Given the description of an element on the screen output the (x, y) to click on. 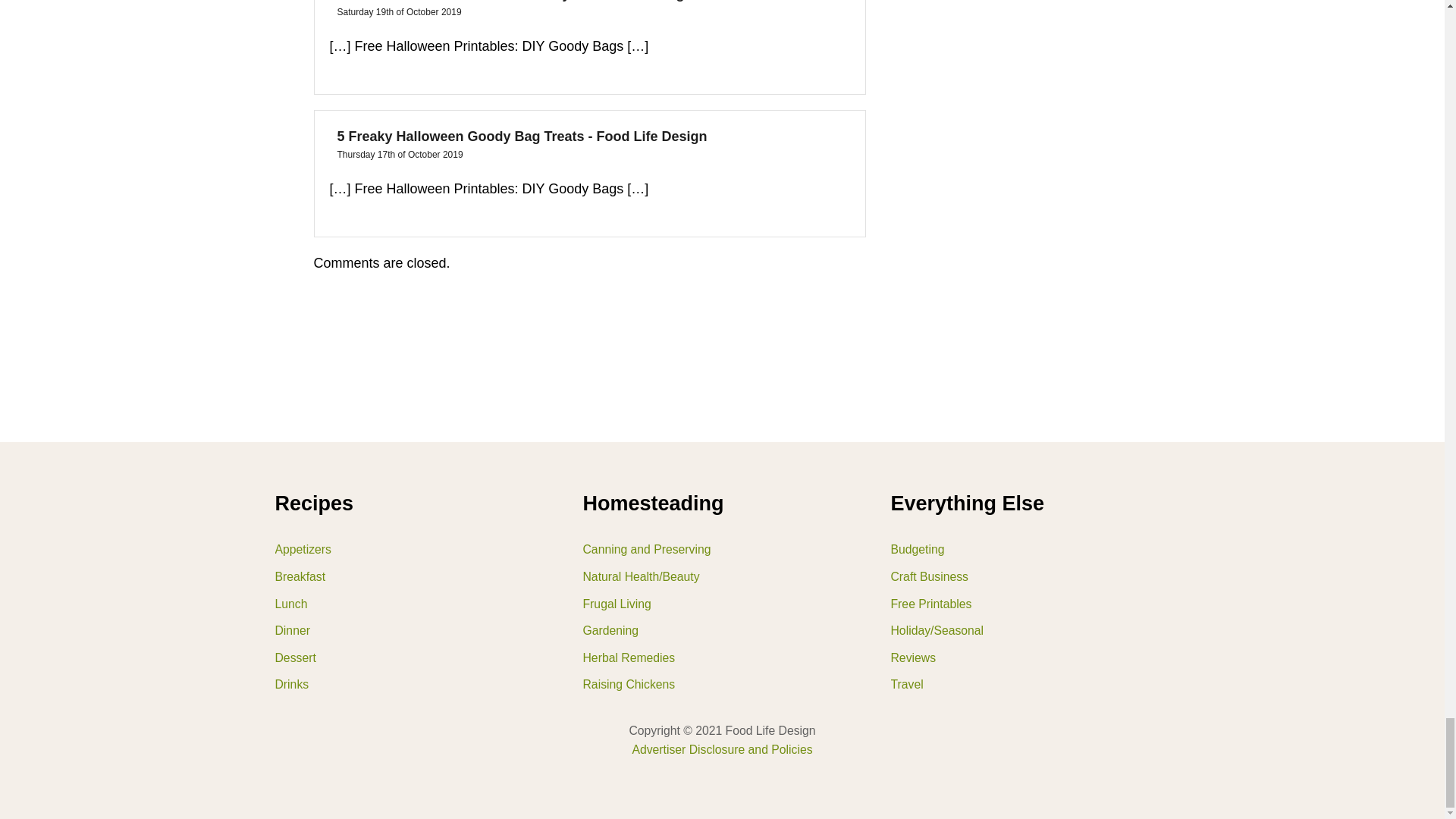
Breakfast (406, 576)
Canning and Preserving (713, 549)
Herbal Remedies (713, 657)
Free Printables (1021, 604)
Appetizers (406, 549)
Dinner (406, 630)
Gardening (713, 630)
Lunch (406, 604)
Drinks (406, 684)
Craft Business (1021, 576)
